Given the description of an element on the screen output the (x, y) to click on. 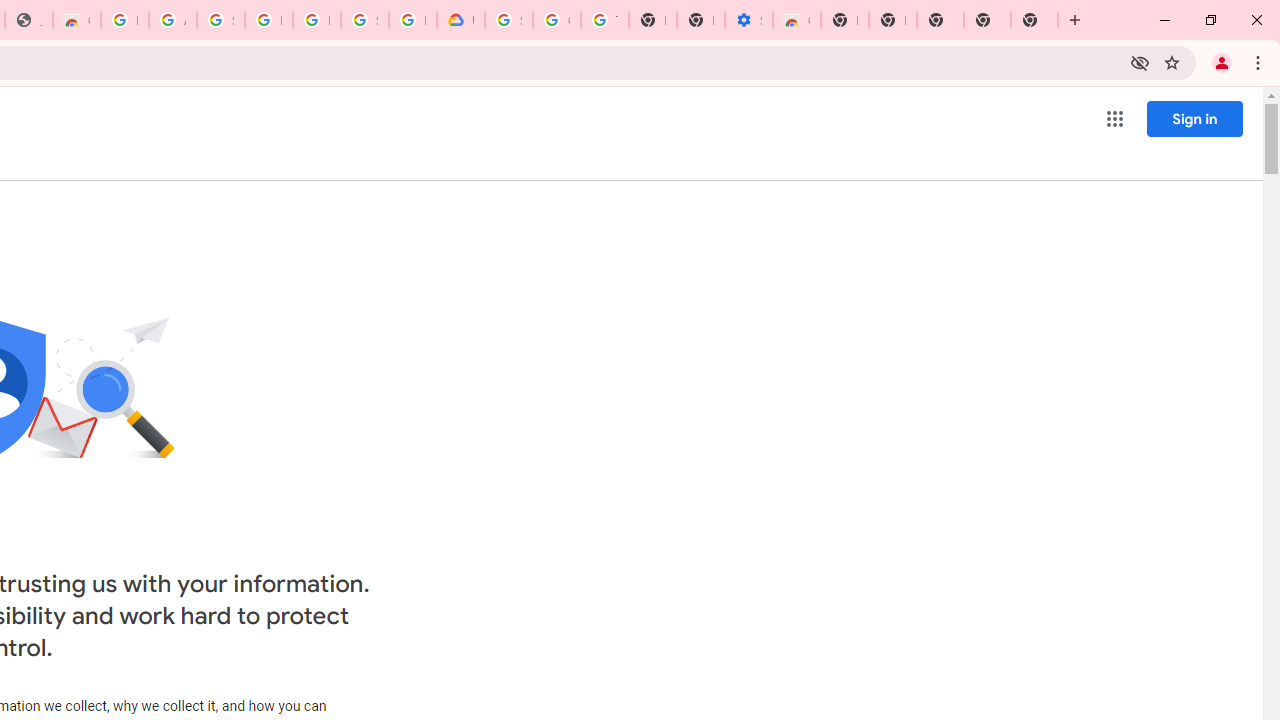
Turn cookies on or off - Computer - Google Account Help (604, 20)
Chrome Web Store - Household (76, 20)
New Tab (1034, 20)
Chrome Web Store - Accessibility extensions (796, 20)
